Given the description of an element on the screen output the (x, y) to click on. 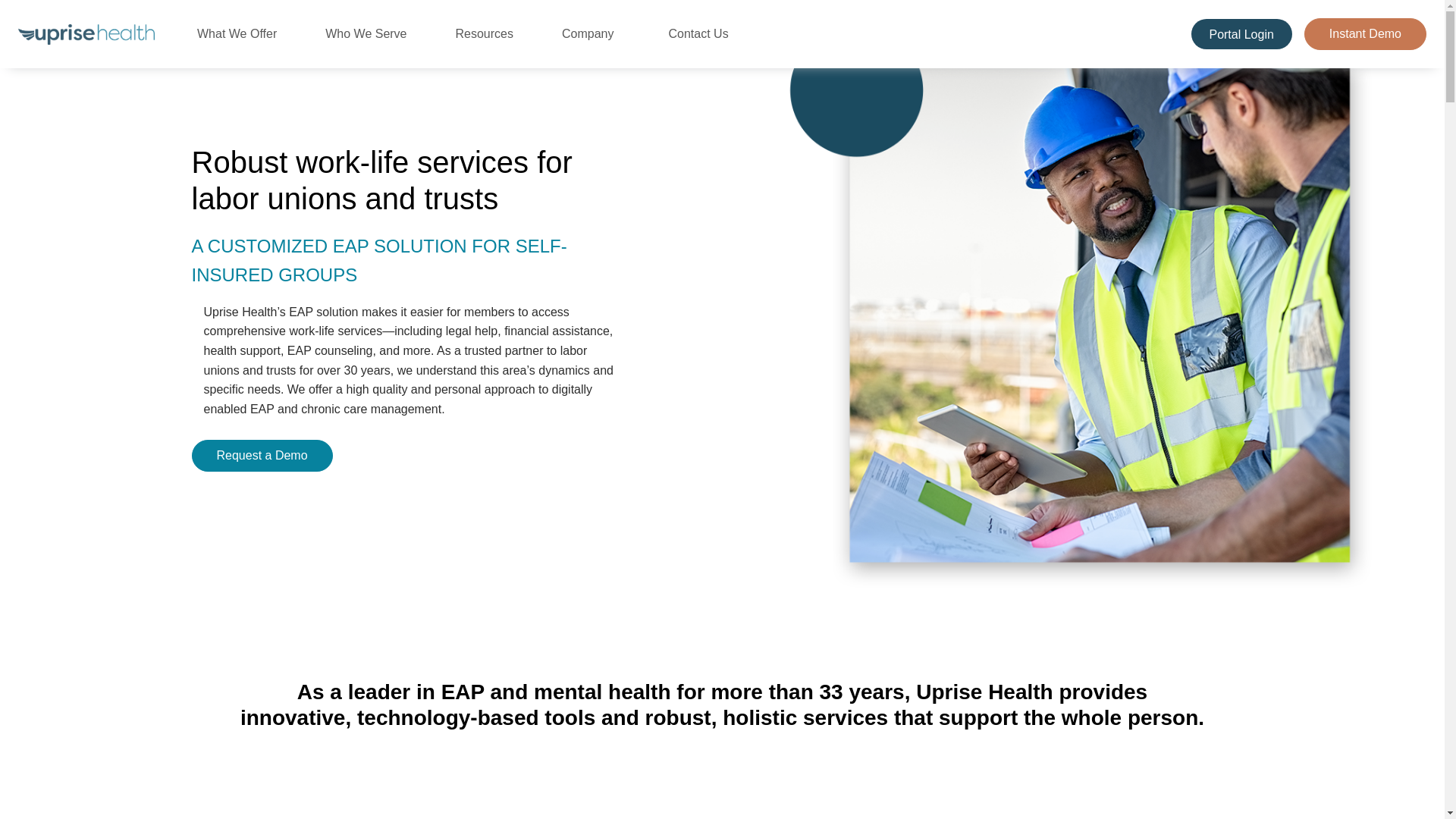
Portal Login (1246, 34)
What We Offer (242, 33)
Who We Serve (371, 33)
Contact Us (697, 33)
Company (593, 33)
Resources (490, 33)
Instant Demo (1365, 33)
What We Offer (242, 33)
Who We Serve (371, 33)
Resources (490, 33)
